Given the description of an element on the screen output the (x, y) to click on. 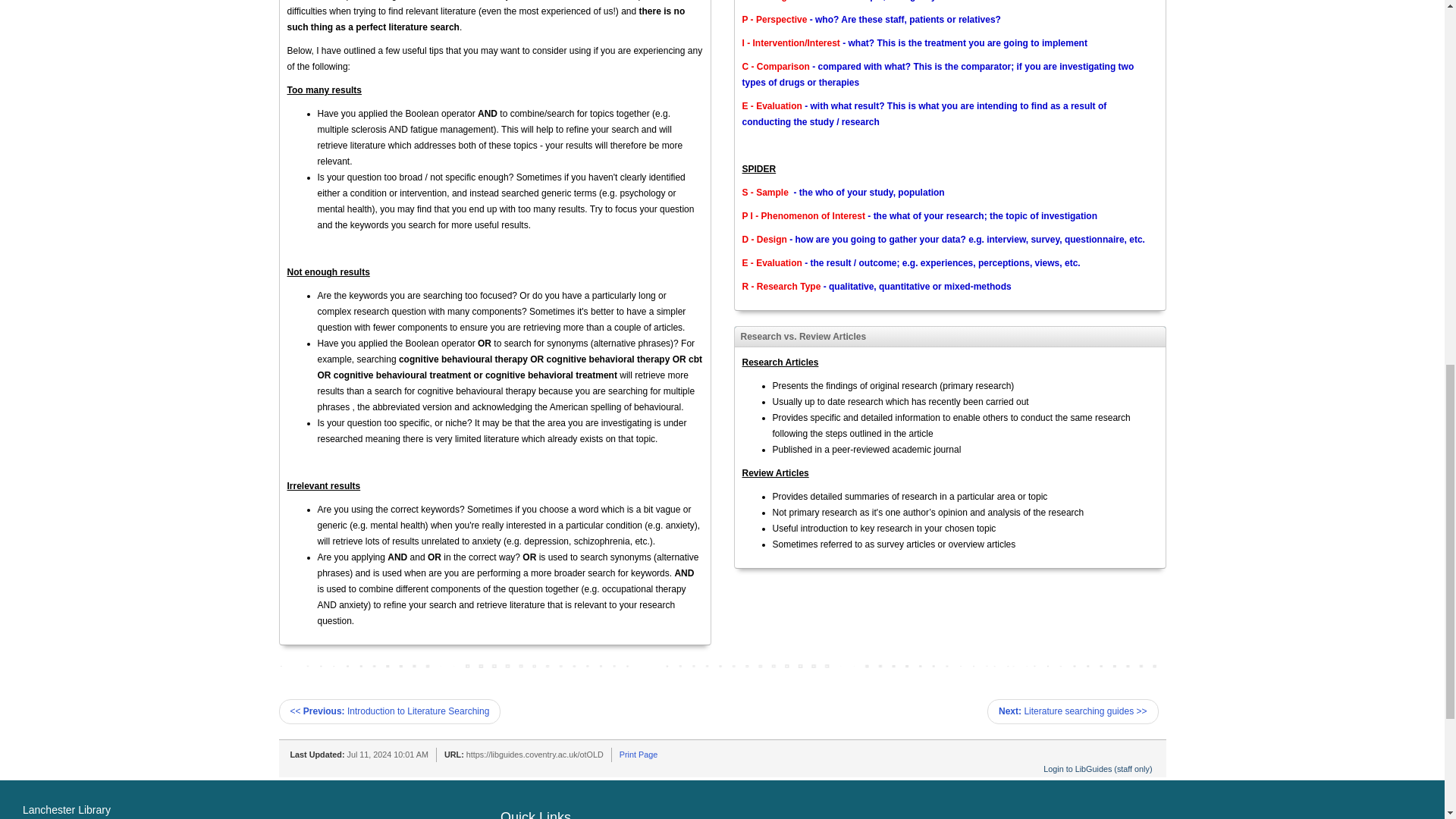
Occupational (340, 786)
Print Page (639, 754)
Therapy (387, 786)
